Given the description of an element on the screen output the (x, y) to click on. 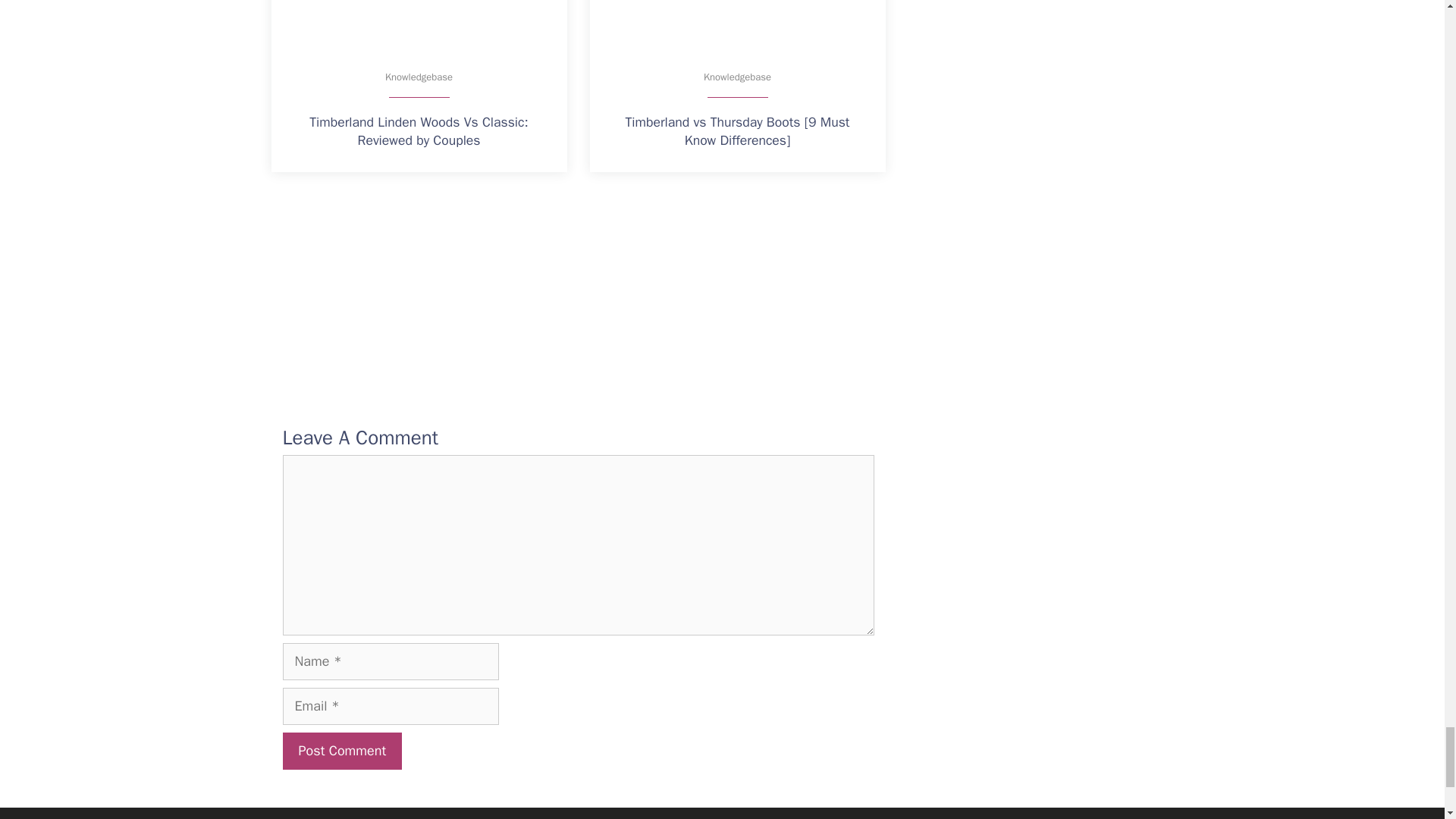
Post Comment (341, 750)
Timberland Linden Woods Vs Classic: Reviewed by Couples (418, 24)
Timberland Linden Woods Vs Classic: Reviewed by Couples (418, 133)
